Given the description of an element on the screen output the (x, y) to click on. 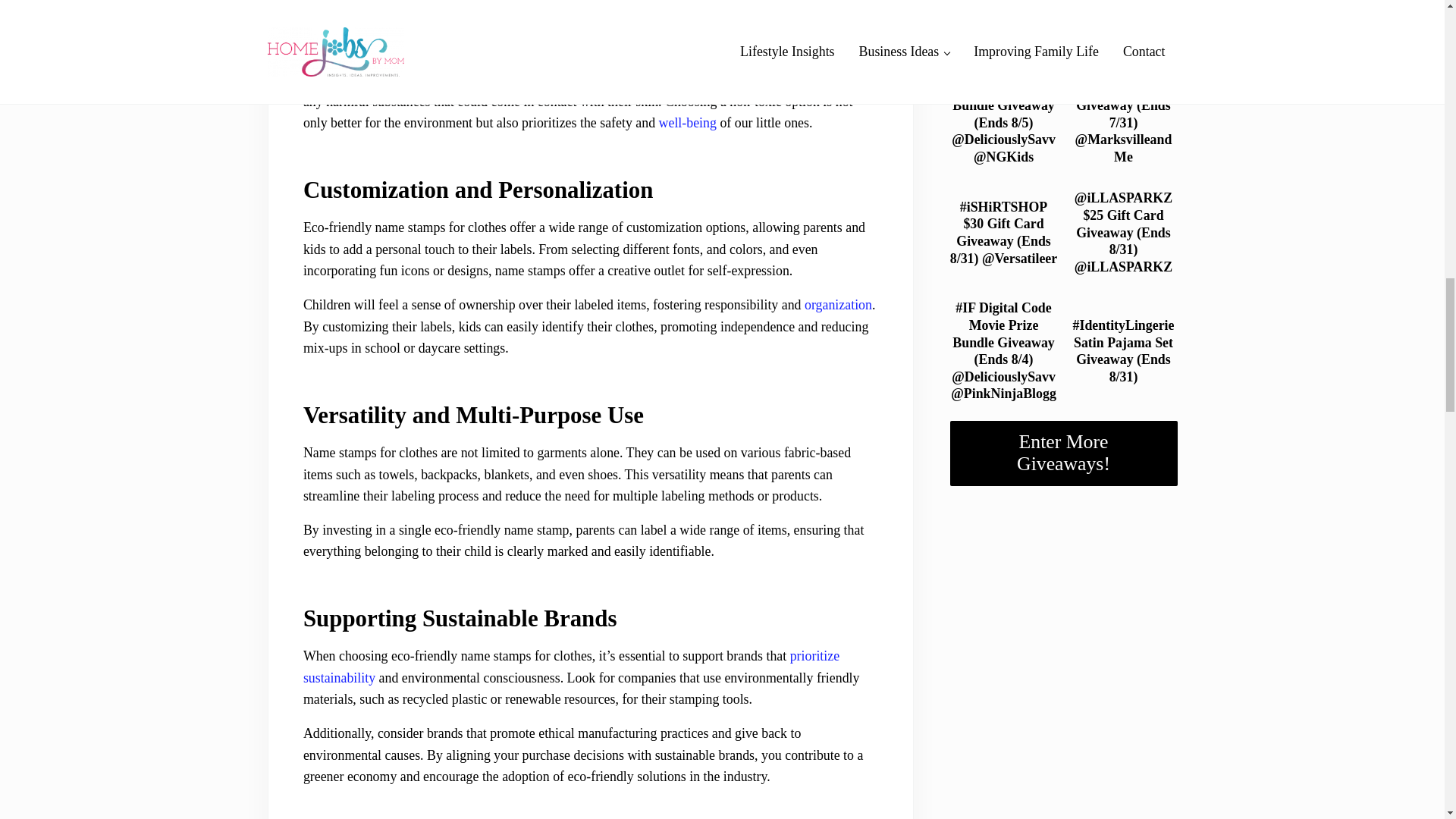
prioritize sustainability (571, 666)
7 Cool Inexpensive Organizing Tips (838, 304)
organization (838, 304)
well-being (687, 122)
